Given the description of an element on the screen output the (x, y) to click on. 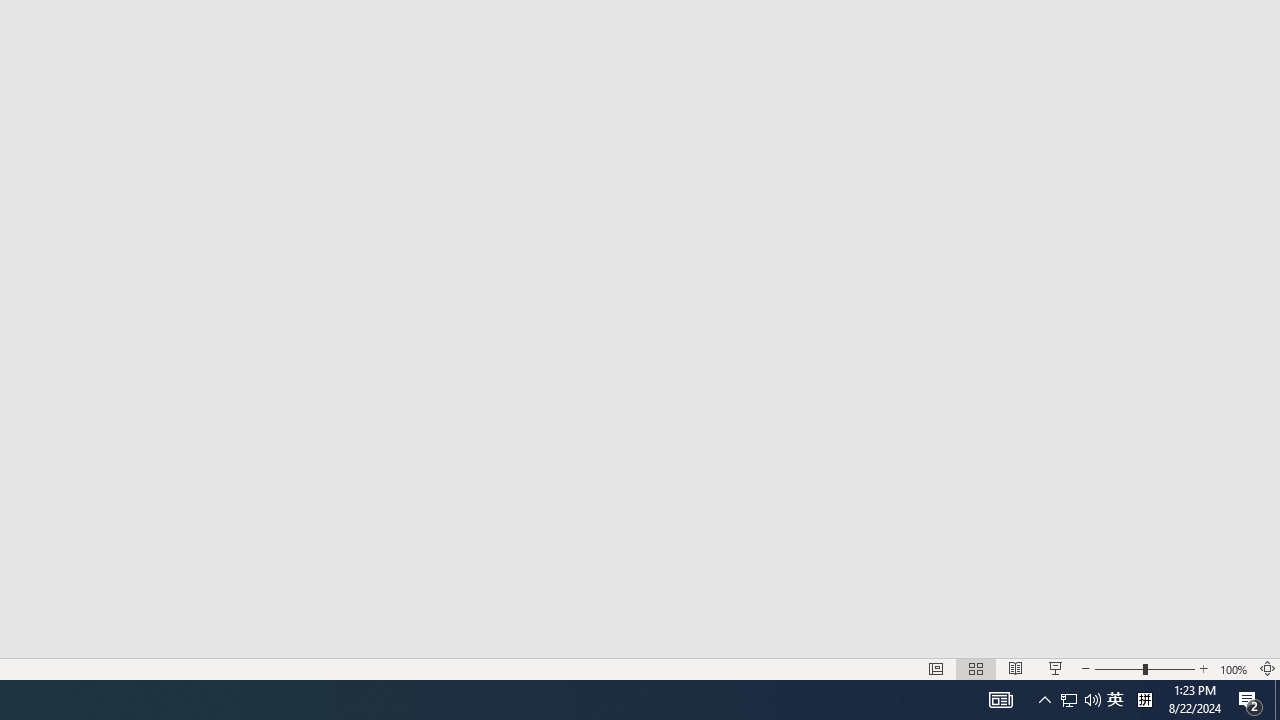
Zoom 100% (1234, 668)
